Given the description of an element on the screen output the (x, y) to click on. 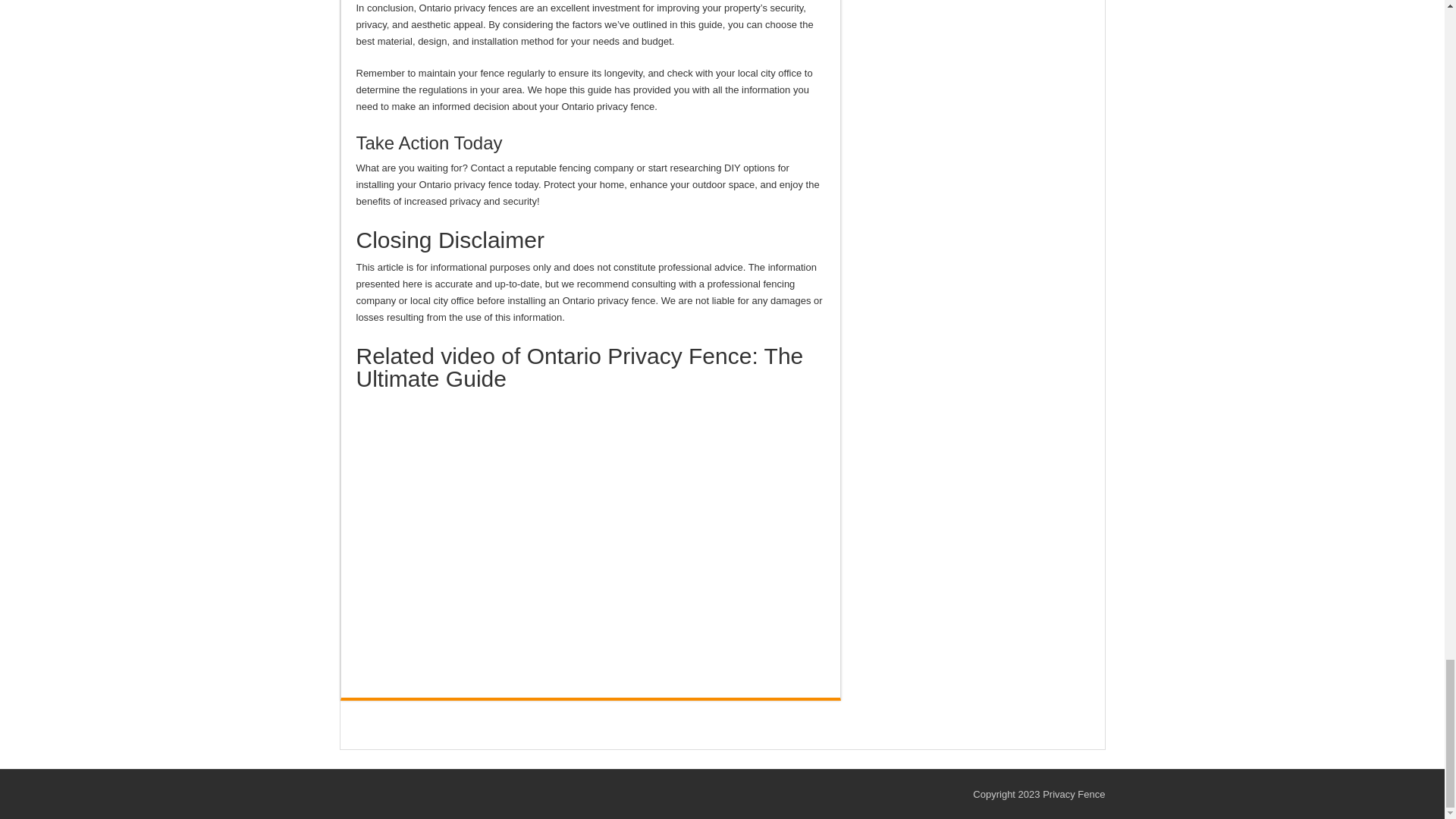
How to Install a Vinyl Fence DIY Privacy Fence Build (590, 529)
Privacy Fence (1073, 794)
